Given the description of an element on the screen output the (x, y) to click on. 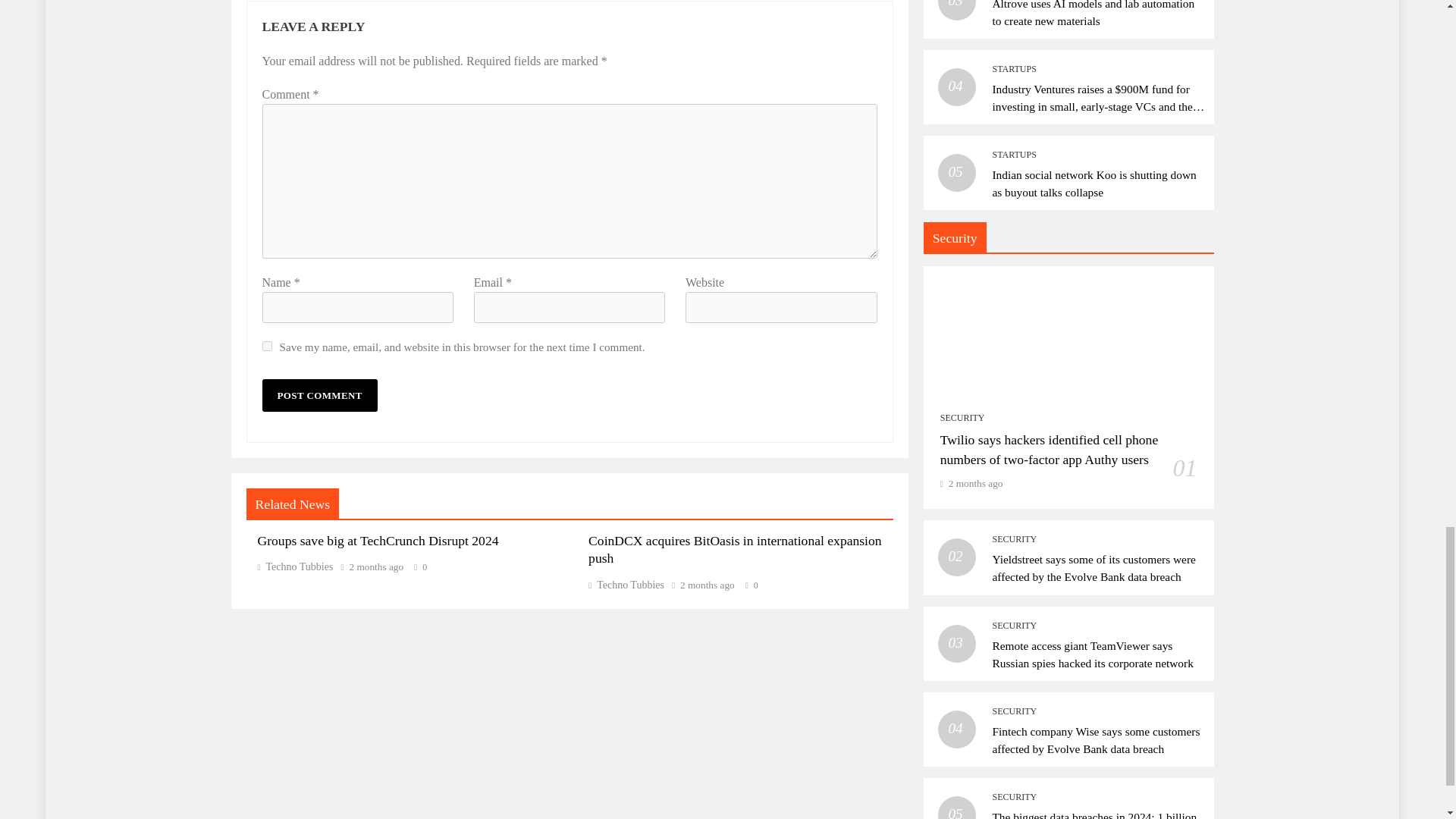
yes (267, 346)
2 months ago (376, 566)
Groups save big at TechCrunch Disrupt 2024 (378, 540)
Techno Tubbies (295, 566)
CoinDCX acquires BitOasis in international expansion push (735, 549)
Post Comment (319, 395)
Post Comment (319, 395)
